Given the description of an element on the screen output the (x, y) to click on. 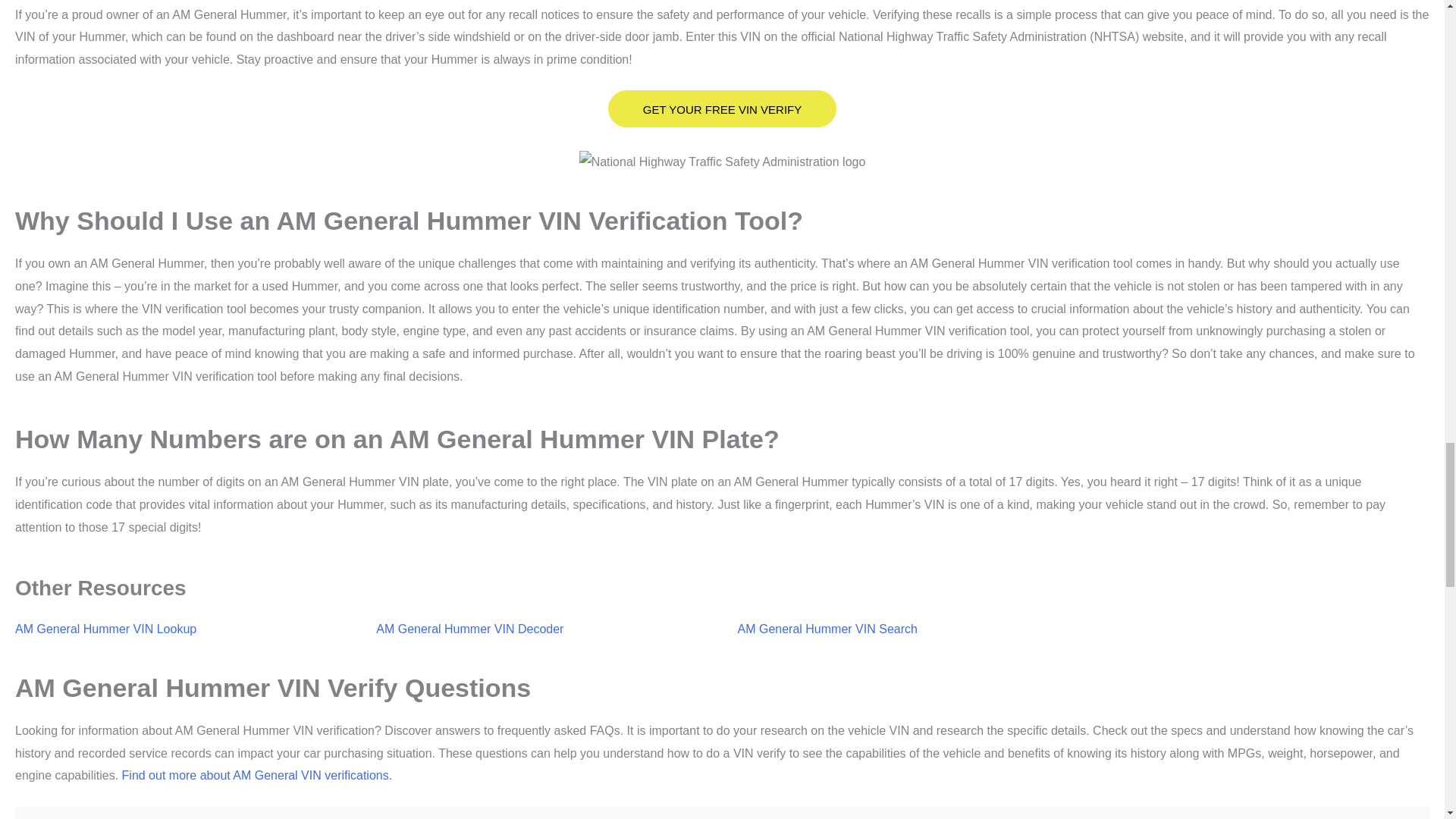
AM General Hummer VIN Lookup (105, 628)
AM General Hummer VIN Search (826, 628)
AM General Hummer VIN Decoder (469, 628)
GET YOUR FREE VIN VERIFY (722, 108)
Find out more about AM General VIN verifications. (257, 775)
